Given the description of an element on the screen output the (x, y) to click on. 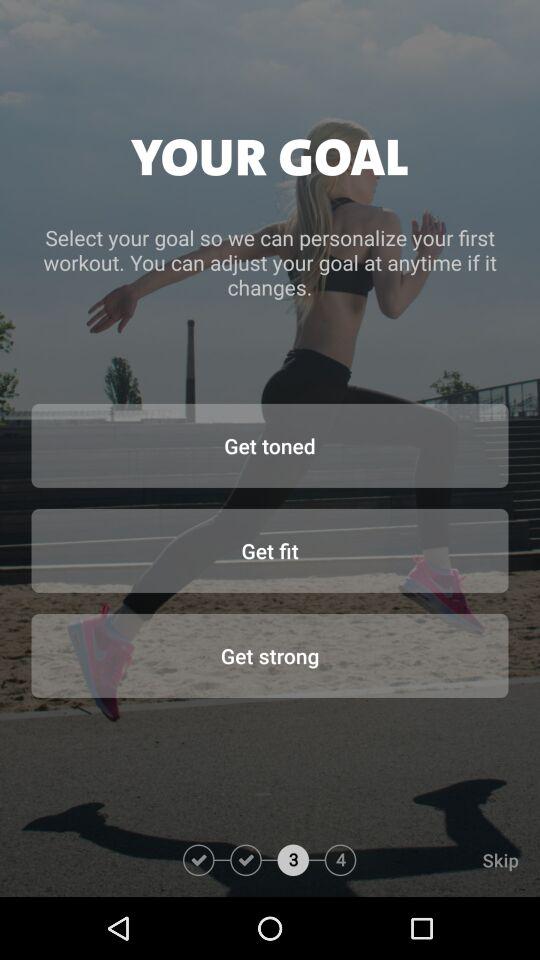
open get fit item (269, 550)
